Given the description of an element on the screen output the (x, y) to click on. 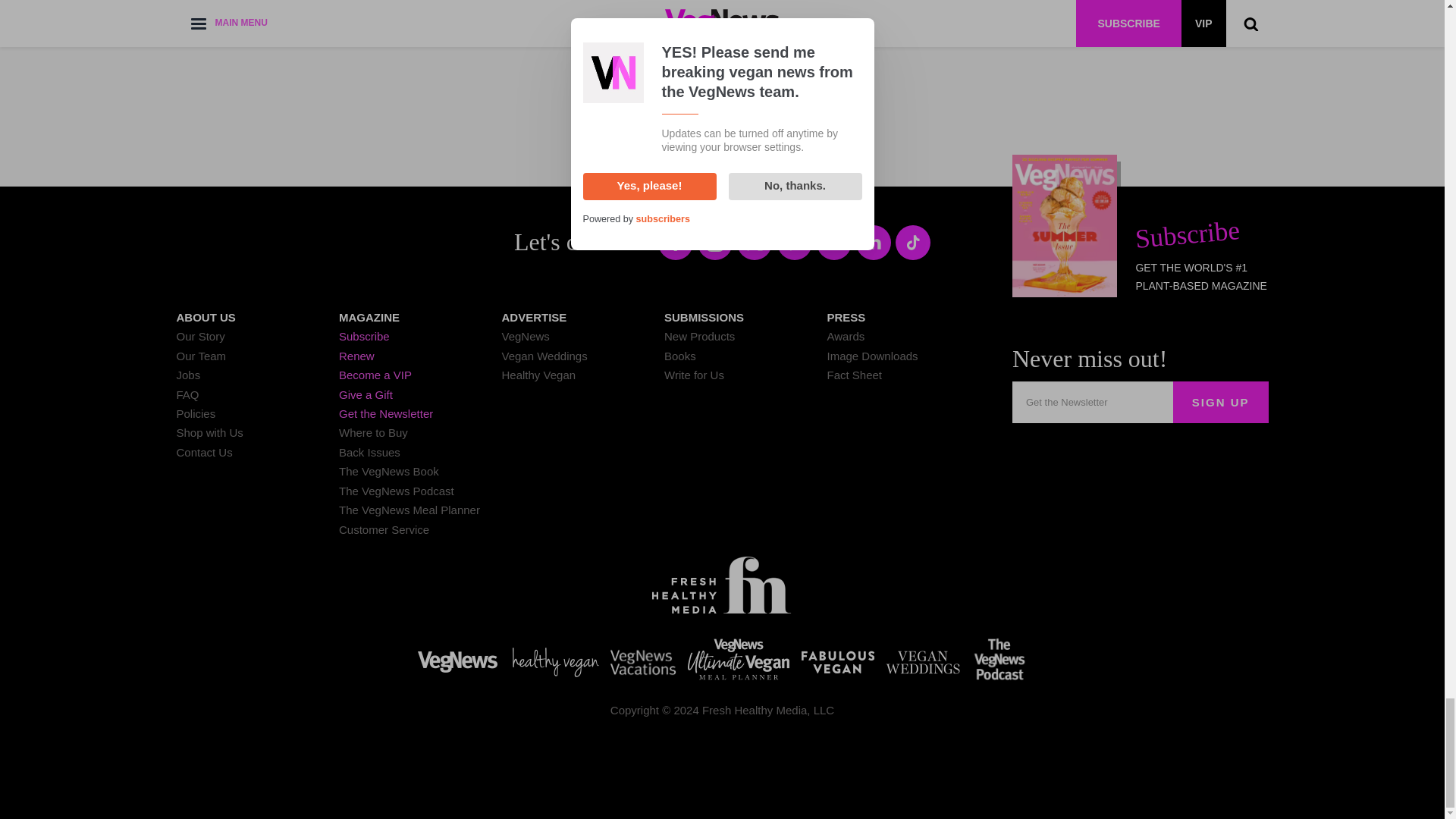
Sign Up (1220, 402)
